Given the description of an element on the screen output the (x, y) to click on. 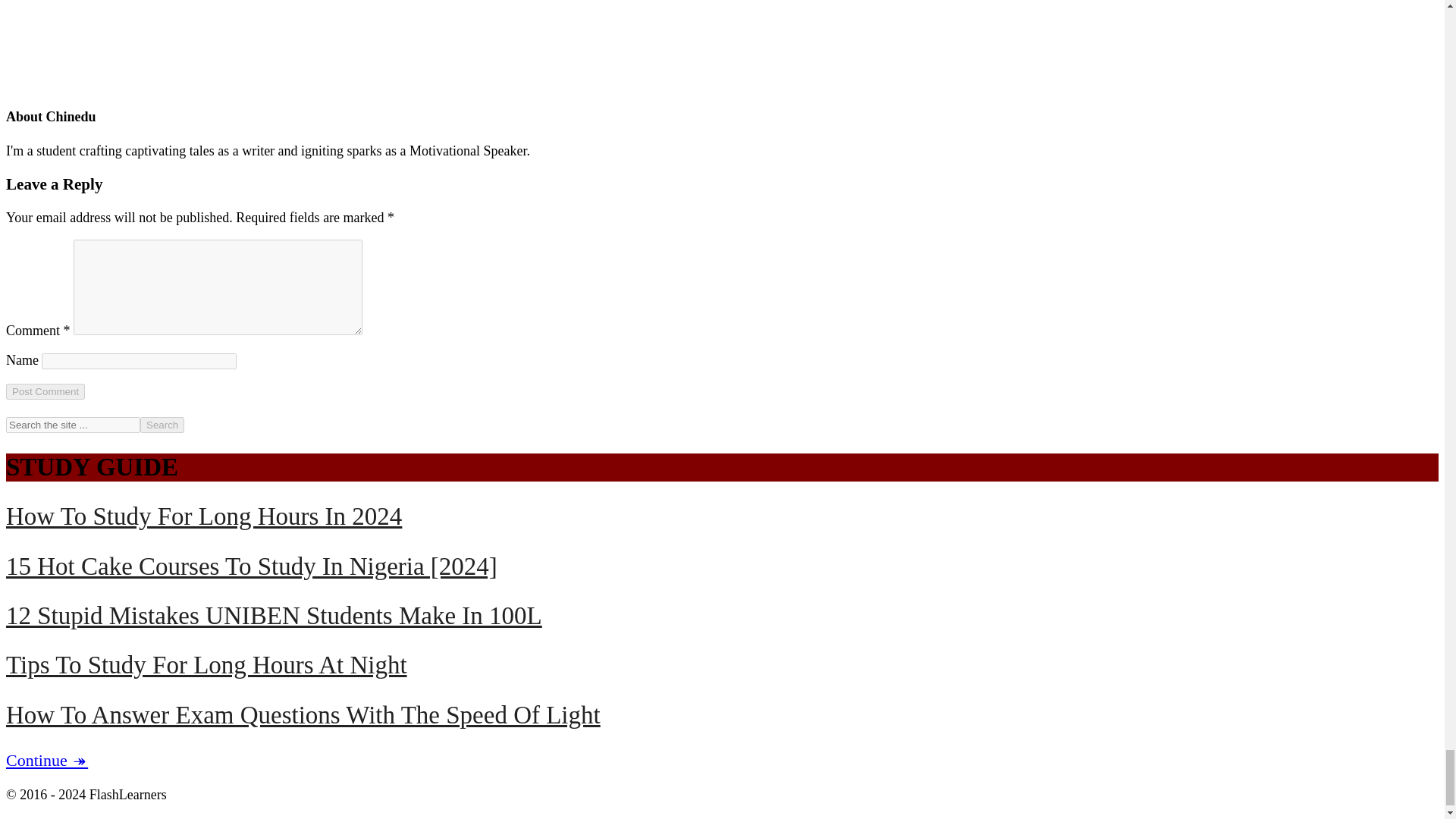
Post Comment (44, 391)
Study (46, 760)
Search (161, 424)
Search (161, 424)
Search (161, 424)
Post Comment (44, 391)
